Given the description of an element on the screen output the (x, y) to click on. 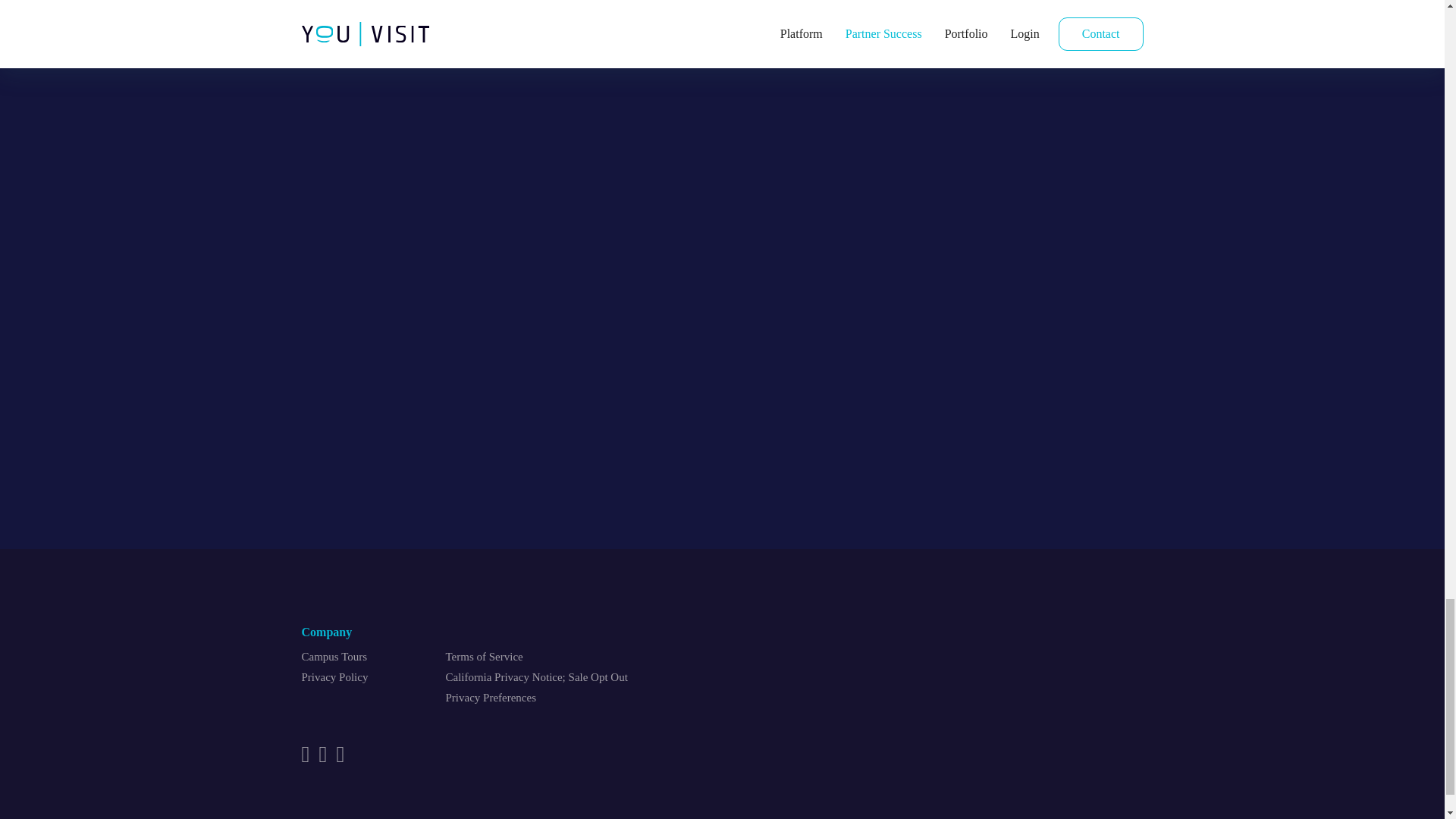
California Privacy Notice; Sale Opt Out (536, 676)
Privacy Preferences (491, 697)
Campus Tours (334, 656)
Terms of Service (483, 656)
Privacy Policy (334, 676)
